Given the description of an element on the screen output the (x, y) to click on. 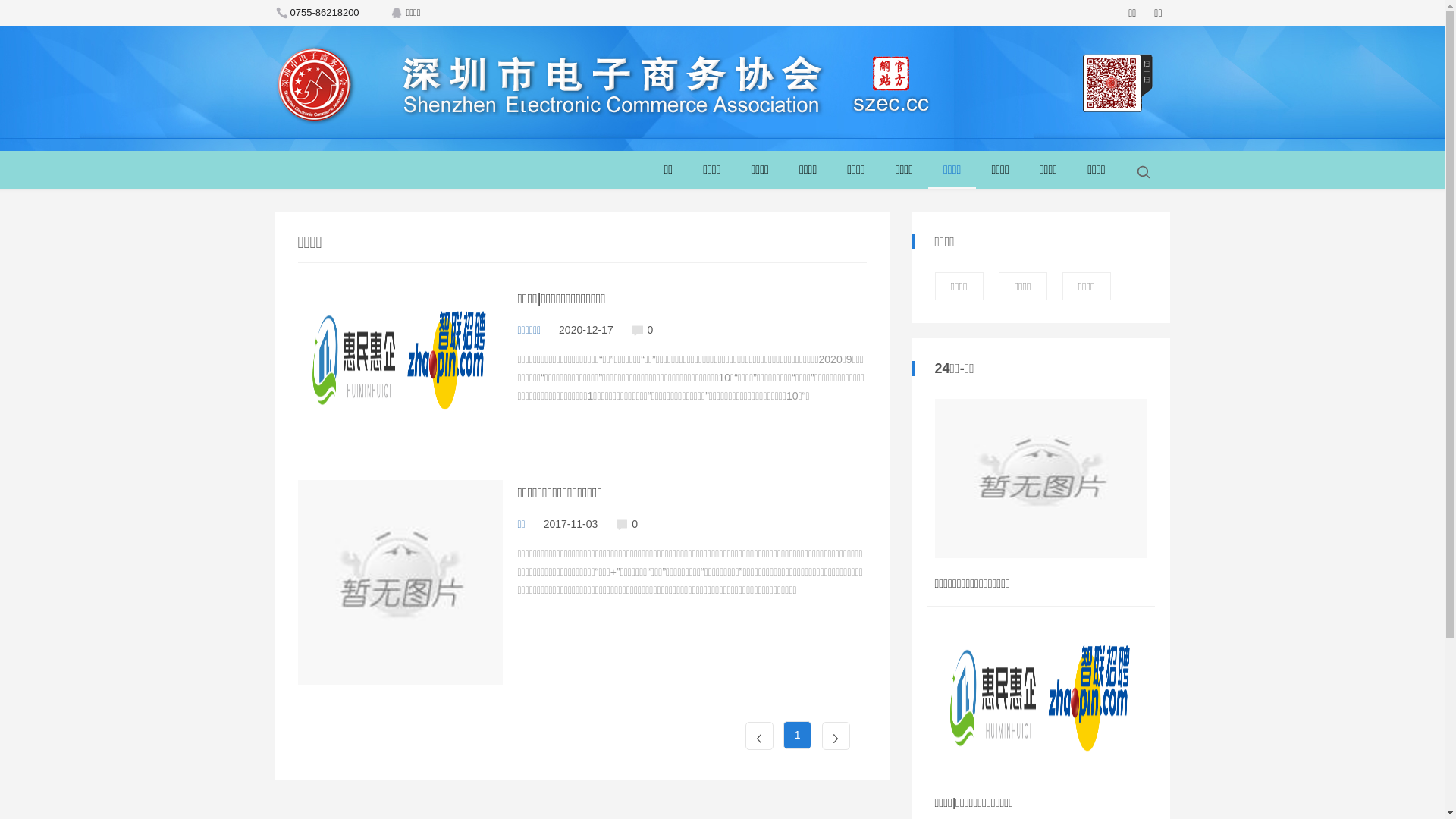
1 Element type: text (797, 735)
0755-86218200 Element type: text (316, 12)
